Given the description of an element on the screen output the (x, y) to click on. 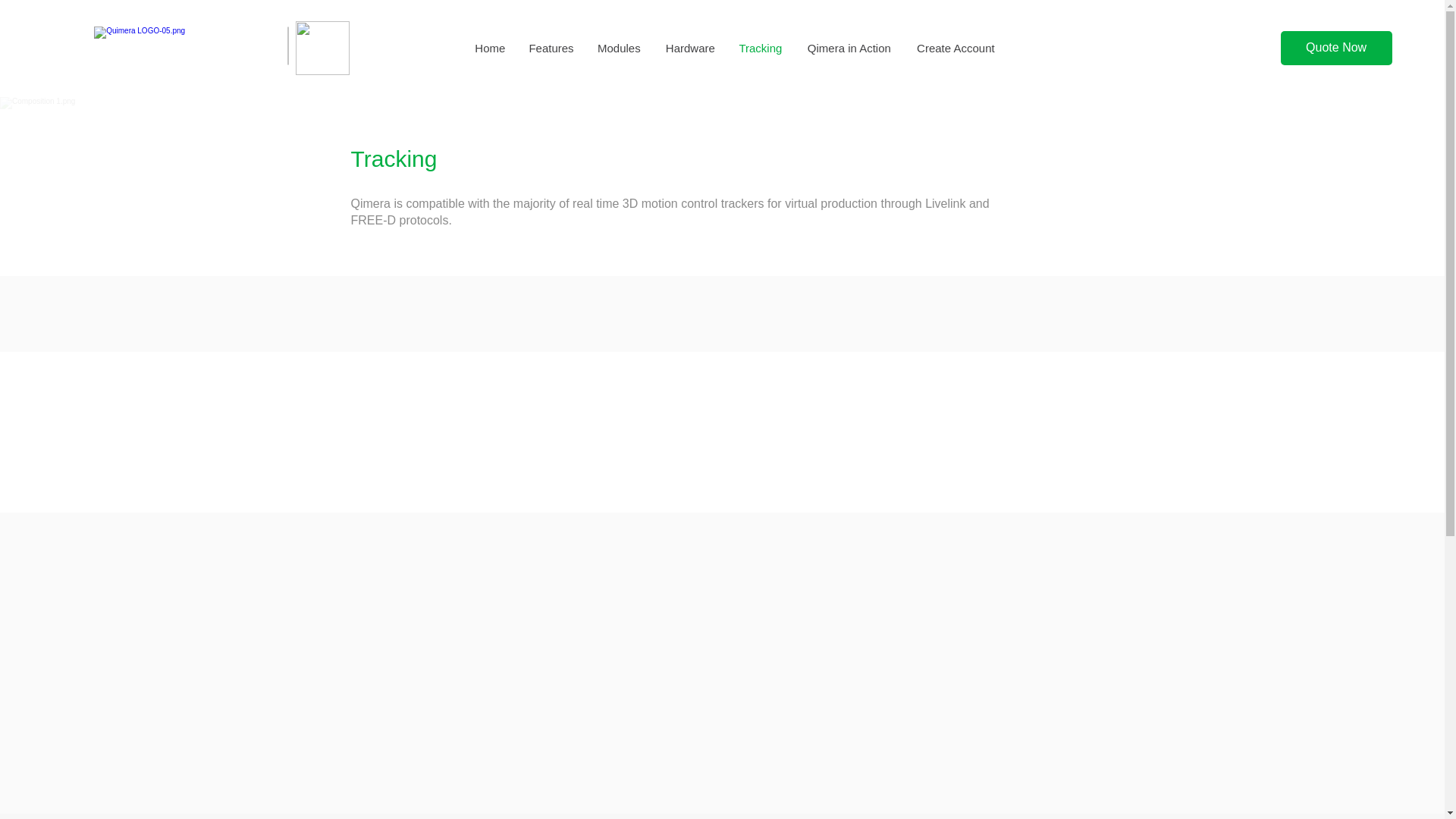
Tracking (759, 48)
Qimera in Action (848, 48)
Quote Now (1336, 48)
Epic Mega Grants recipient Qimera.png (322, 48)
Features (550, 48)
Modules (618, 48)
Home (489, 48)
Hardware (689, 48)
Create Account (955, 48)
